Given the description of an element on the screen output the (x, y) to click on. 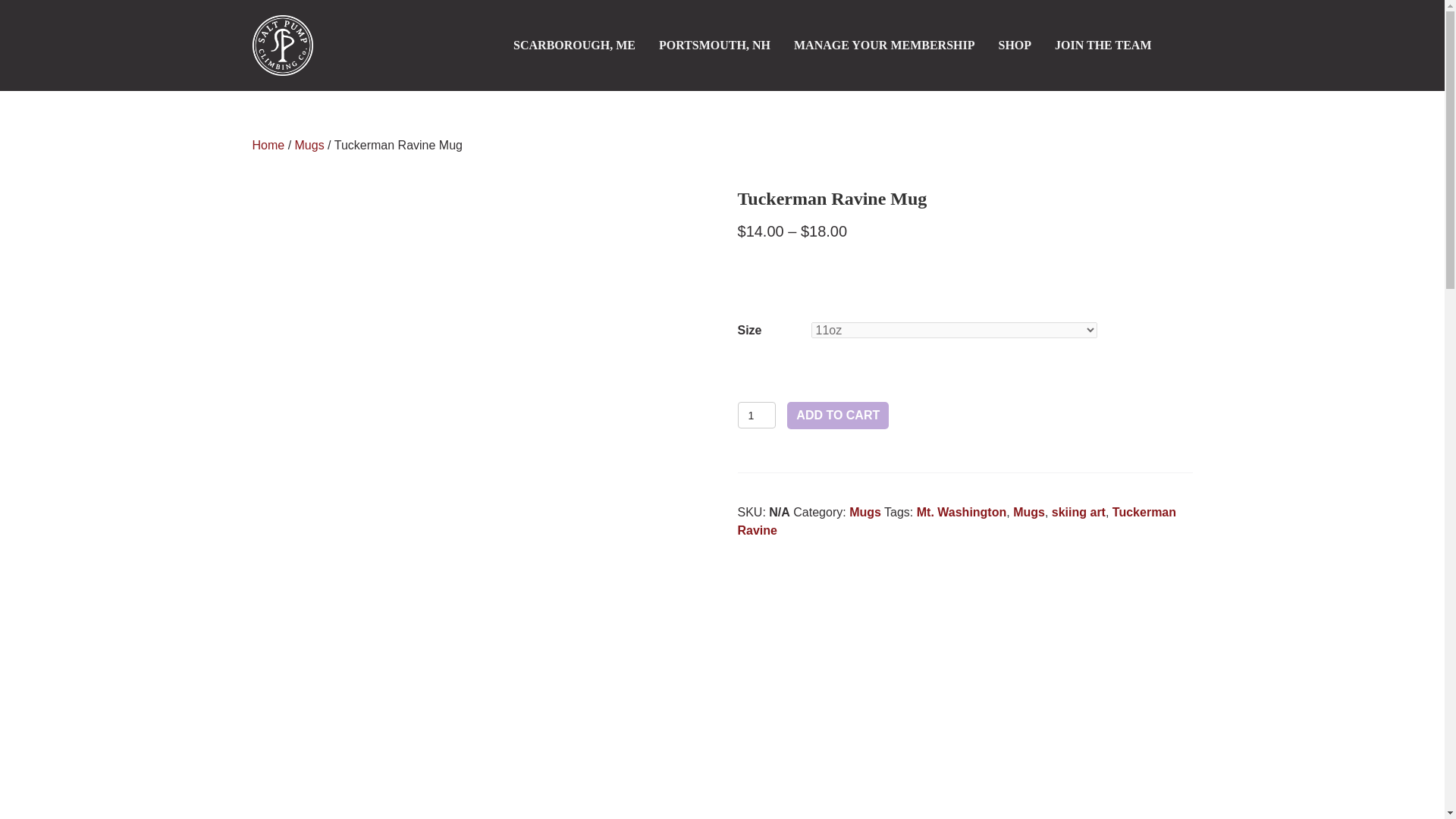
skiing art (1078, 512)
Mt. Washington (962, 512)
ADD TO CART (837, 415)
JOIN THE TEAM (1102, 45)
Mugs (1029, 512)
Tuckerman Ravine (956, 521)
SCARBOROUGH, ME (574, 45)
1 (756, 415)
Salt Pump double circle logo white 1280sq (282, 45)
Mugs (309, 144)
